Given the description of an element on the screen output the (x, y) to click on. 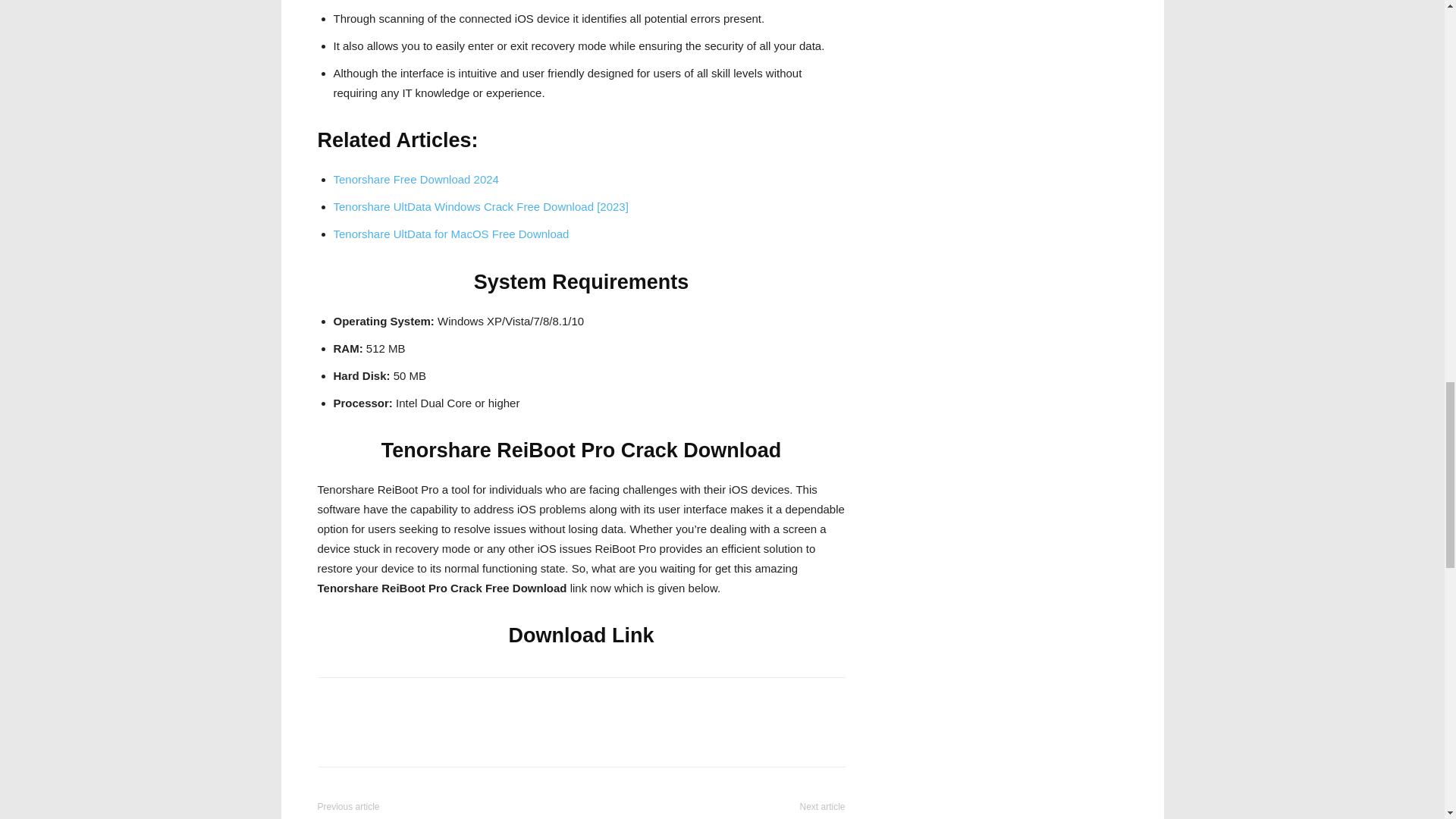
Tenorshare Free Download 2024 (416, 178)
Tenorshare UltData for MacOS Free Download (451, 233)
